Given the description of an element on the screen output the (x, y) to click on. 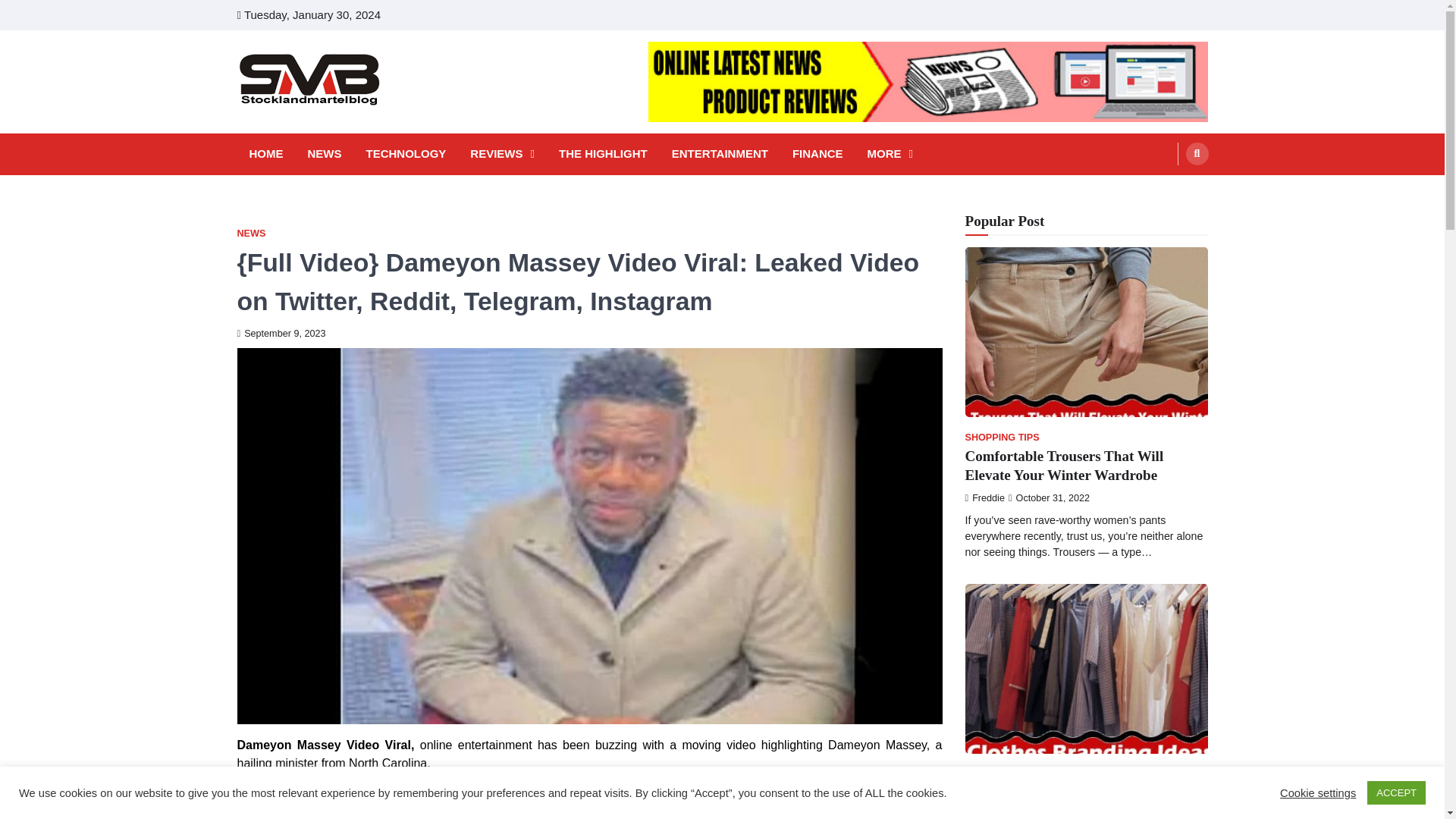
ENTERTAINMENT (719, 153)
Search (1168, 189)
NEWS (249, 233)
MORE (889, 153)
September 9, 2023 (279, 333)
TECHNOLOGY (405, 153)
REVIEWS (502, 153)
THE HIGHLIGHT (603, 153)
NEWS (324, 153)
SHOPPING TIPS (1001, 437)
Search (1197, 153)
FINANCE (817, 153)
HOME (265, 153)
